Given the description of an element on the screen output the (x, y) to click on. 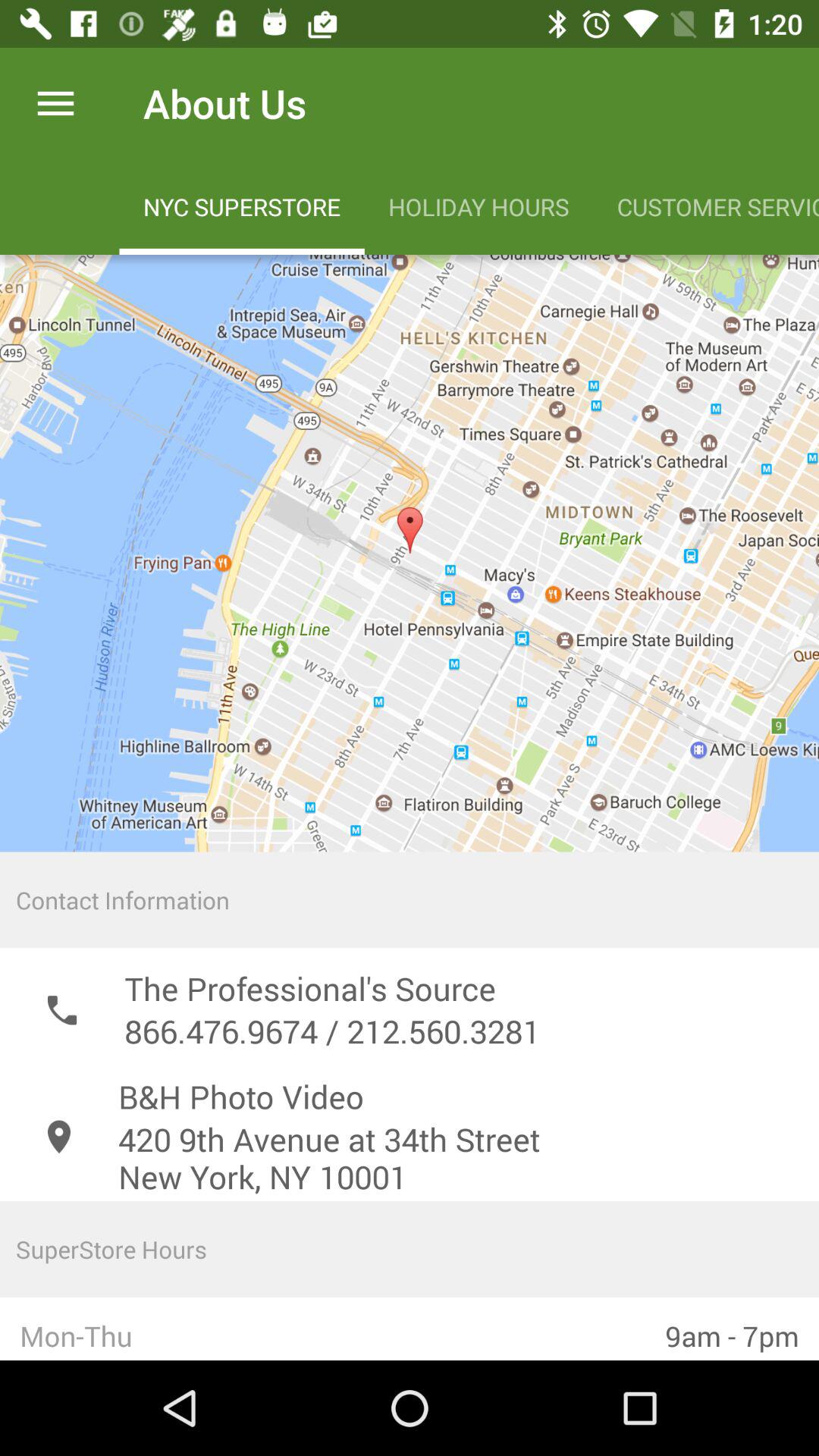
tap icon below the nyc superstore icon (409, 552)
